Given the description of an element on the screen output the (x, y) to click on. 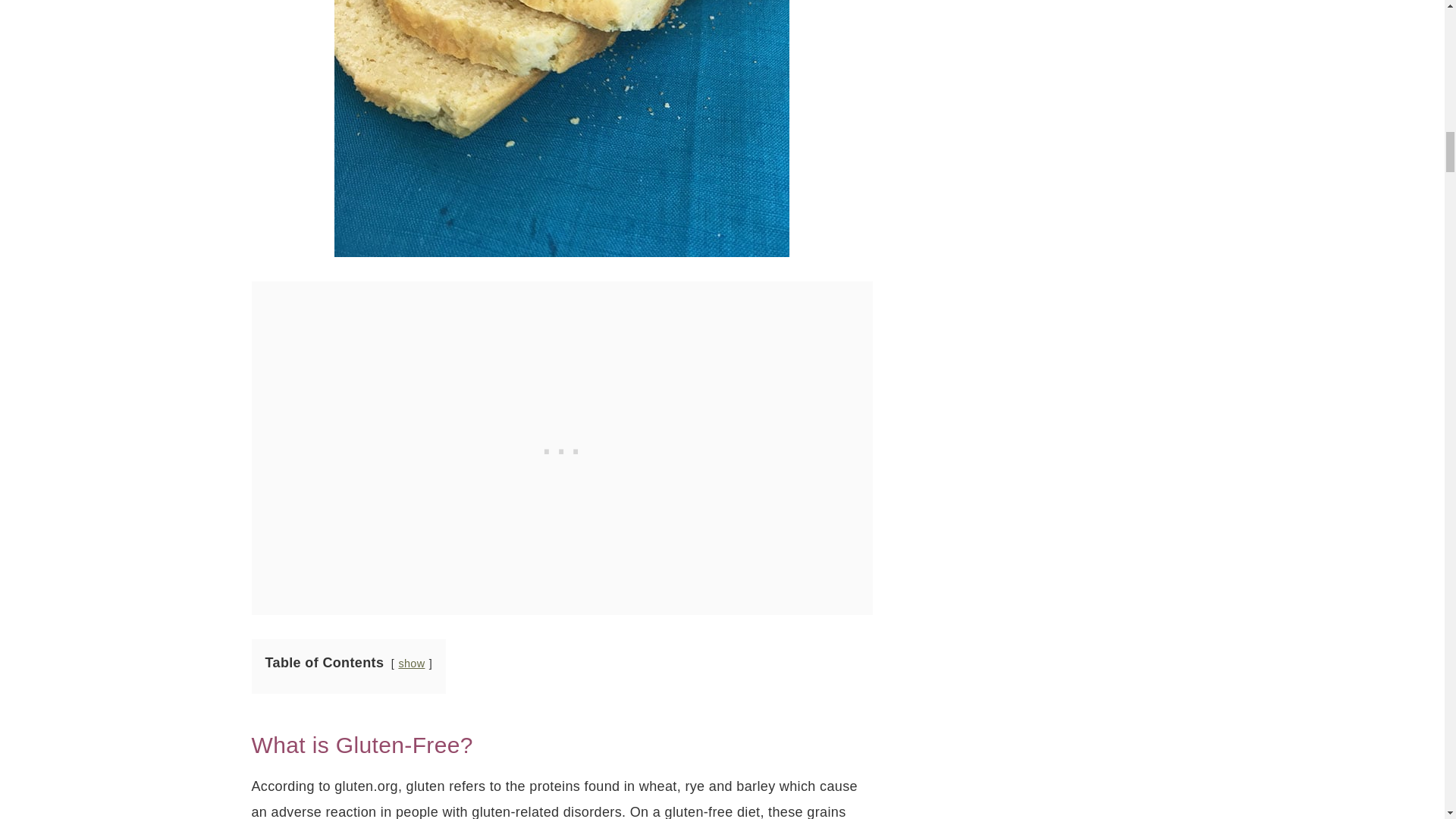
show (411, 663)
